Given the description of an element on the screen output the (x, y) to click on. 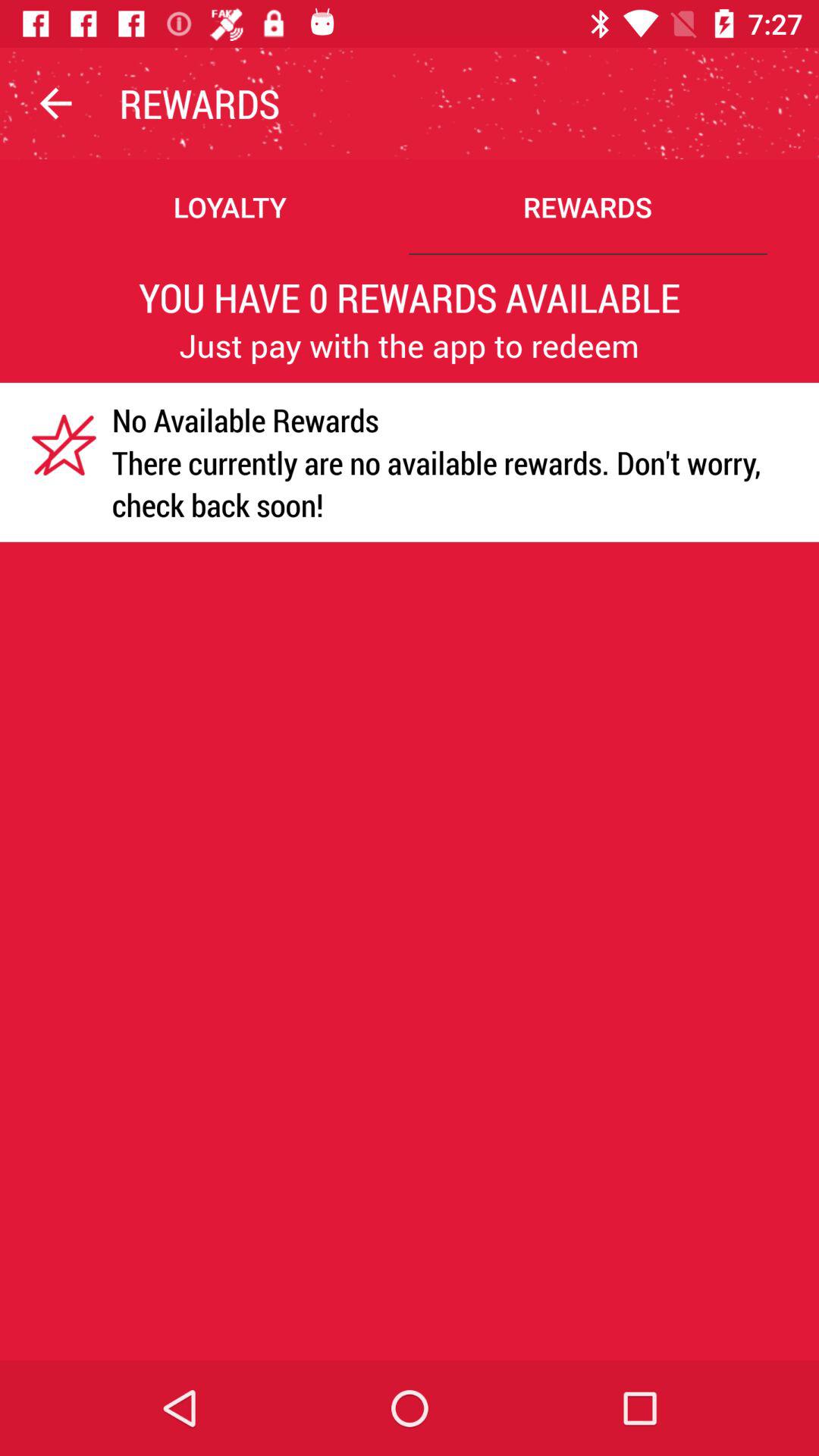
open the item to the left of the rewards (55, 103)
